Given the description of an element on the screen output the (x, y) to click on. 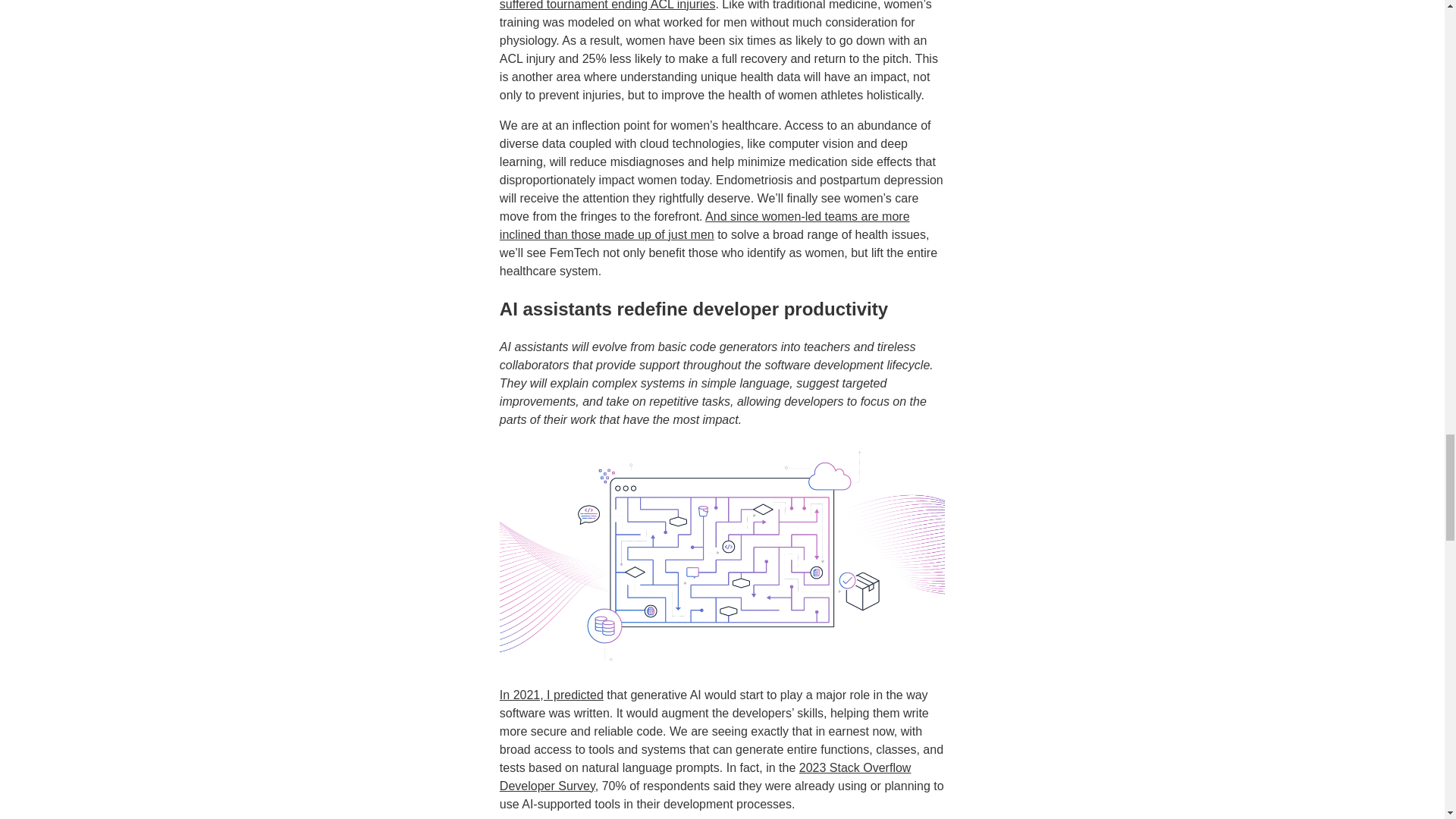
2023 Stack Overflow Developer Survey (705, 776)
In 2021, I predicted (551, 694)
roughly 30 athletes suffered tournament ending ACL injuries (699, 5)
